Given the description of an element on the screen output the (x, y) to click on. 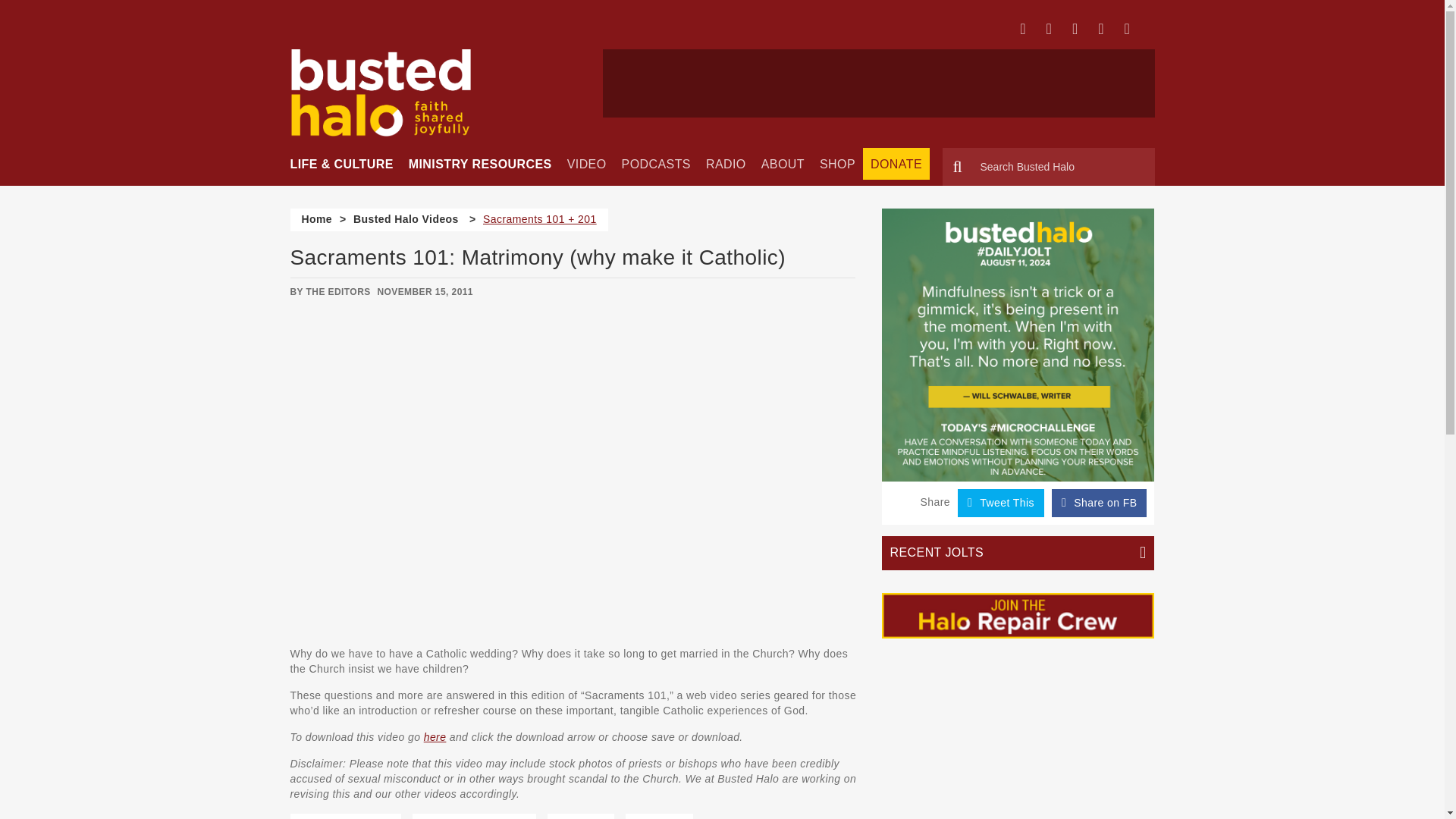
lifelong commitment (473, 816)
pre-cana (659, 816)
Share on FB (1099, 502)
SHOP (837, 163)
PODCASTS (656, 163)
marriage (580, 816)
RADIO (726, 163)
God in everything (345, 816)
THE EDITORS (338, 291)
